Given the description of an element on the screen output the (x, y) to click on. 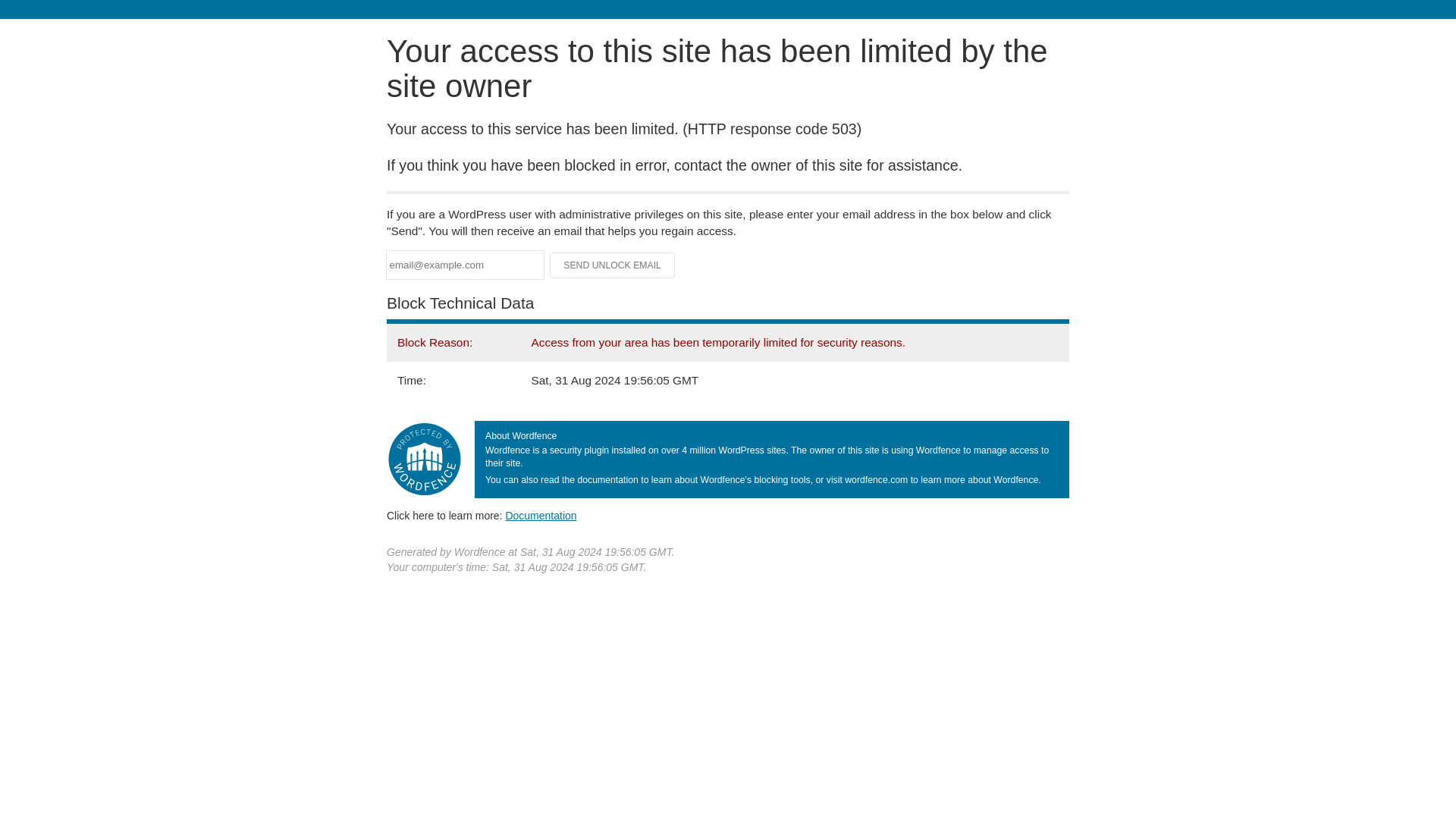
Send Unlock Email (612, 265)
Documentation (540, 515)
Send Unlock Email (612, 265)
